Given the description of an element on the screen output the (x, y) to click on. 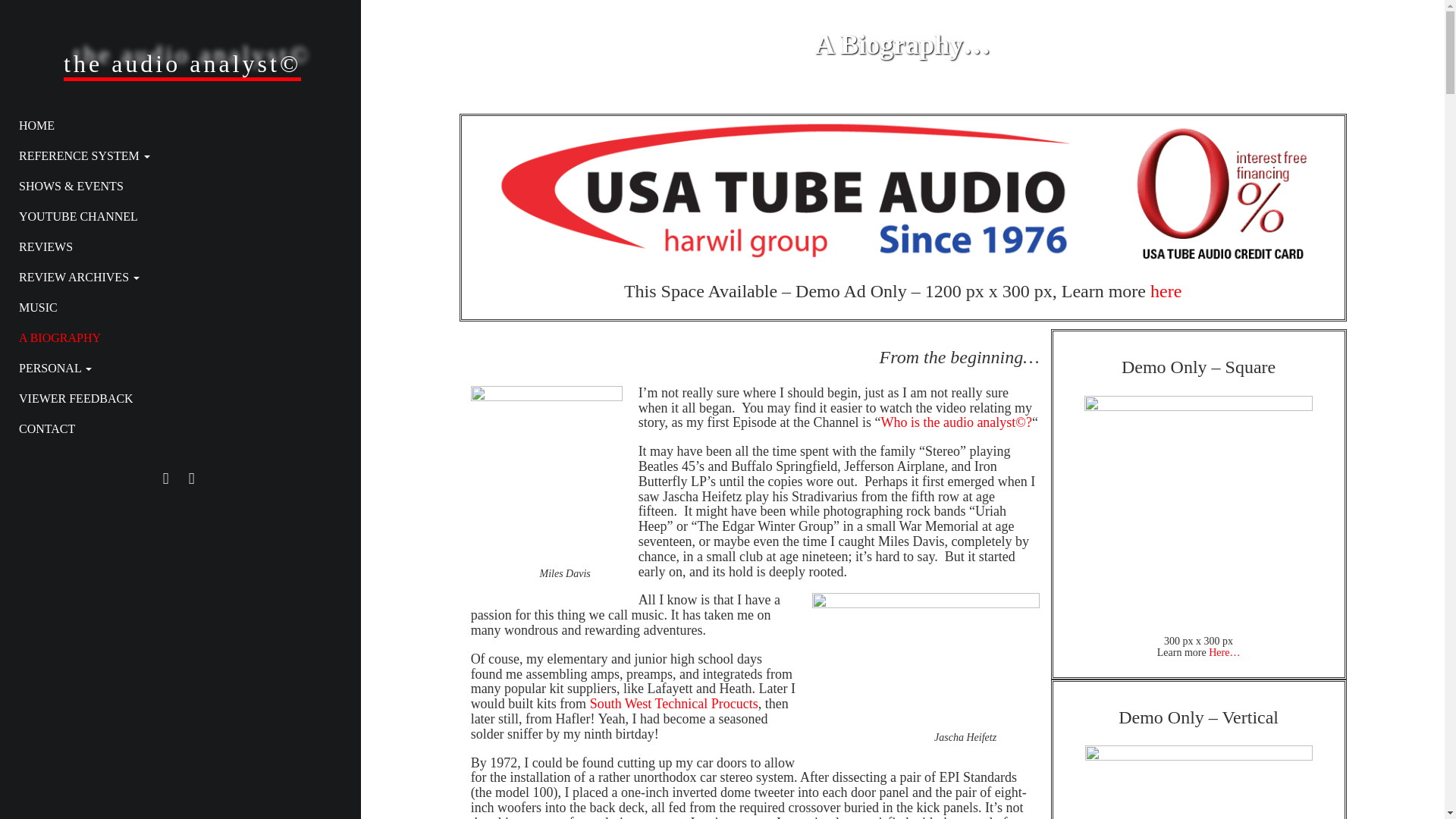
MUSIC (174, 307)
PERSONAL (174, 368)
here (1165, 291)
VIEWER FEEDBACK (174, 399)
REVIEWS (174, 246)
HOME (174, 125)
YOUTUBE CHANNEL (174, 216)
South West Technical Procucts (673, 703)
REVIEW ARCHIVES (174, 277)
CONTACT (174, 429)
